Given the description of an element on the screen output the (x, y) to click on. 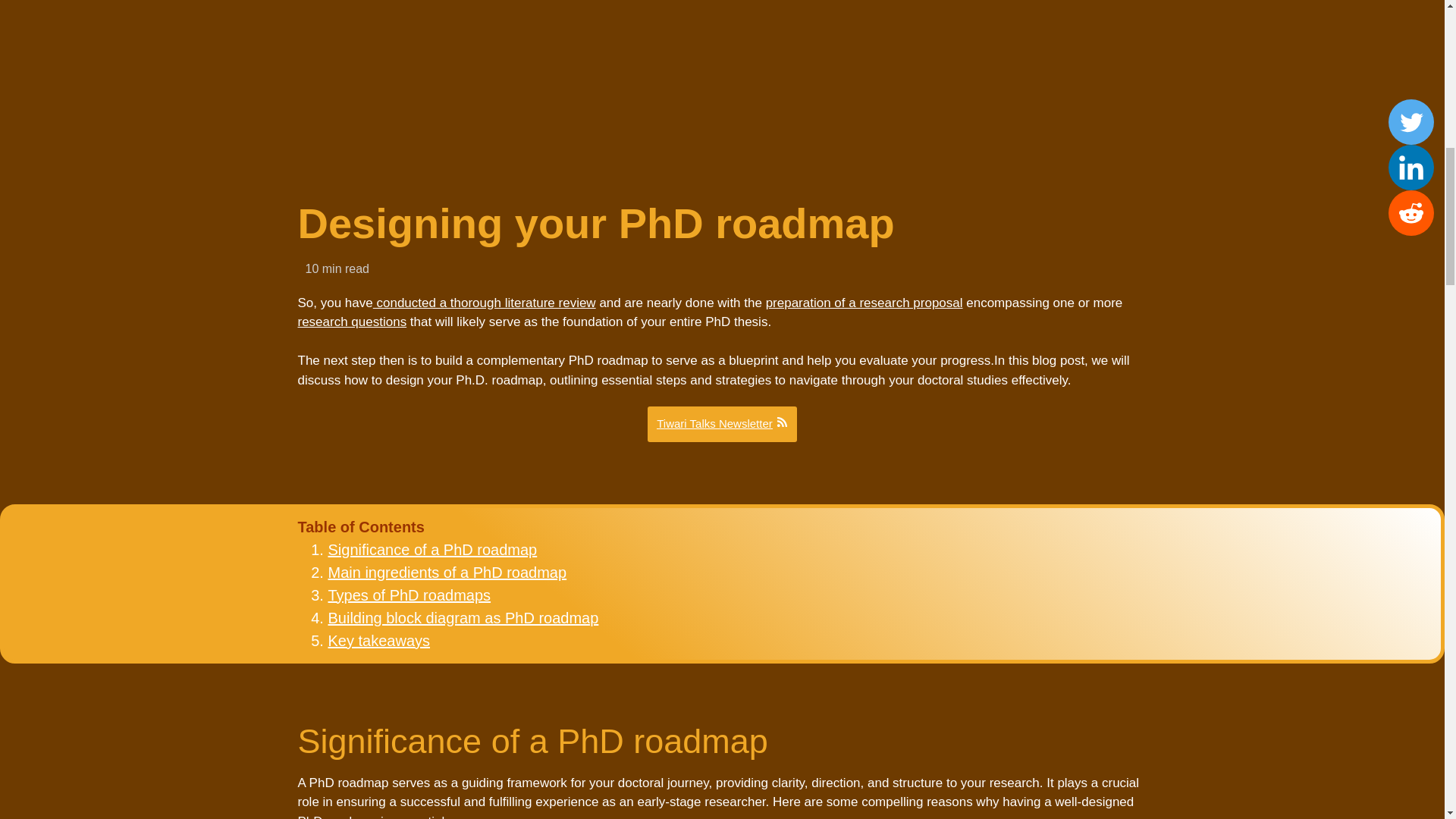
Tiwari Talks Newsletter (721, 424)
Building block diagram as PhD roadmap (462, 617)
Main ingredients of a PhD roadmap (446, 572)
Types of PhD roadmaps (408, 595)
Key takeaways (378, 640)
Significance of a PhD roadmap (432, 549)
conducted a thorough literature review (483, 302)
research questions (351, 321)
preparation of a research proposal (863, 302)
